Given the description of an element on the screen output the (x, y) to click on. 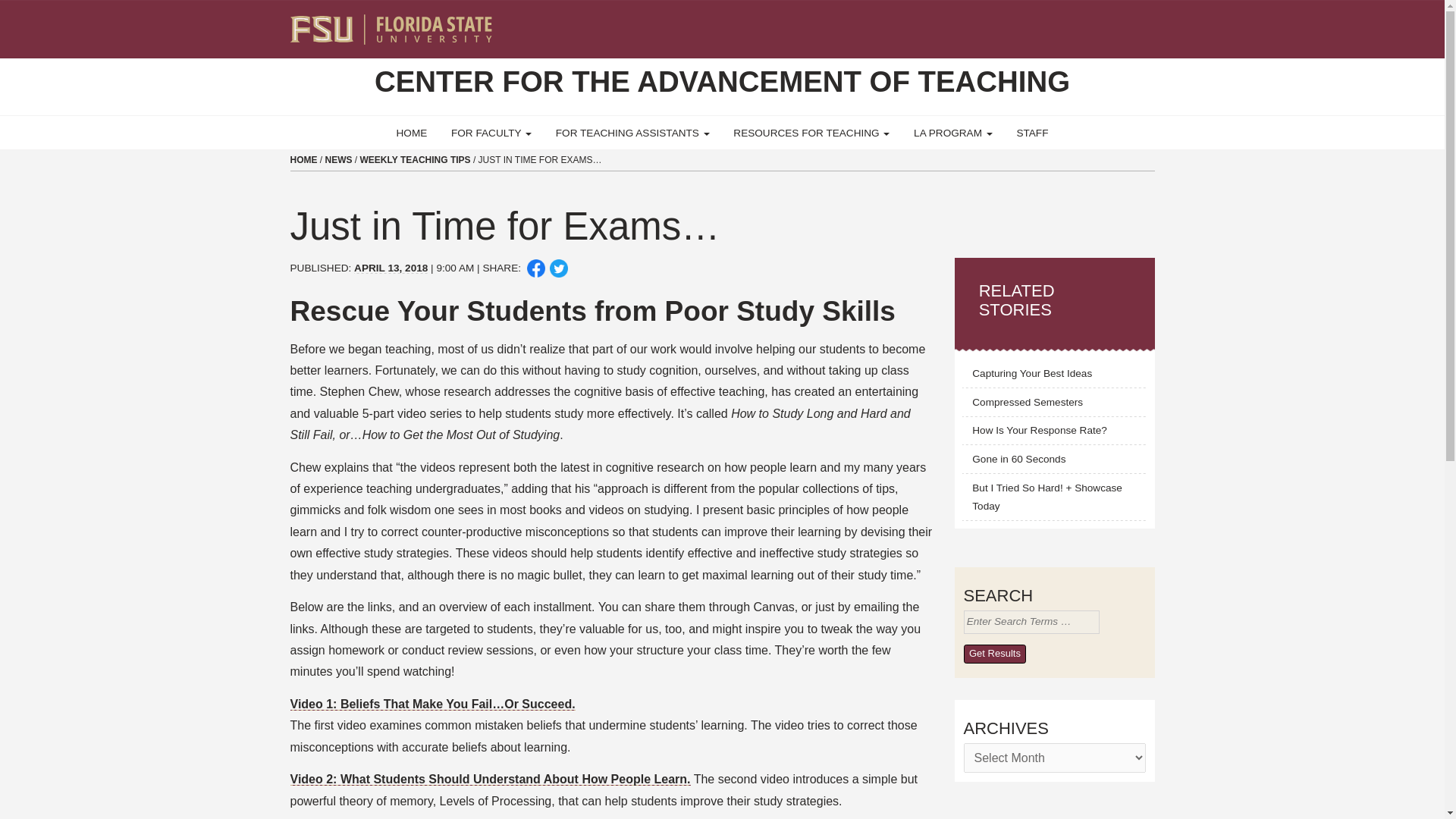
Skip to content (5, 5)
FSU Webmail (1112, 23)
Navigation (1152, 23)
Get Results (994, 653)
Get Results (994, 653)
